Given the description of an element on the screen output the (x, y) to click on. 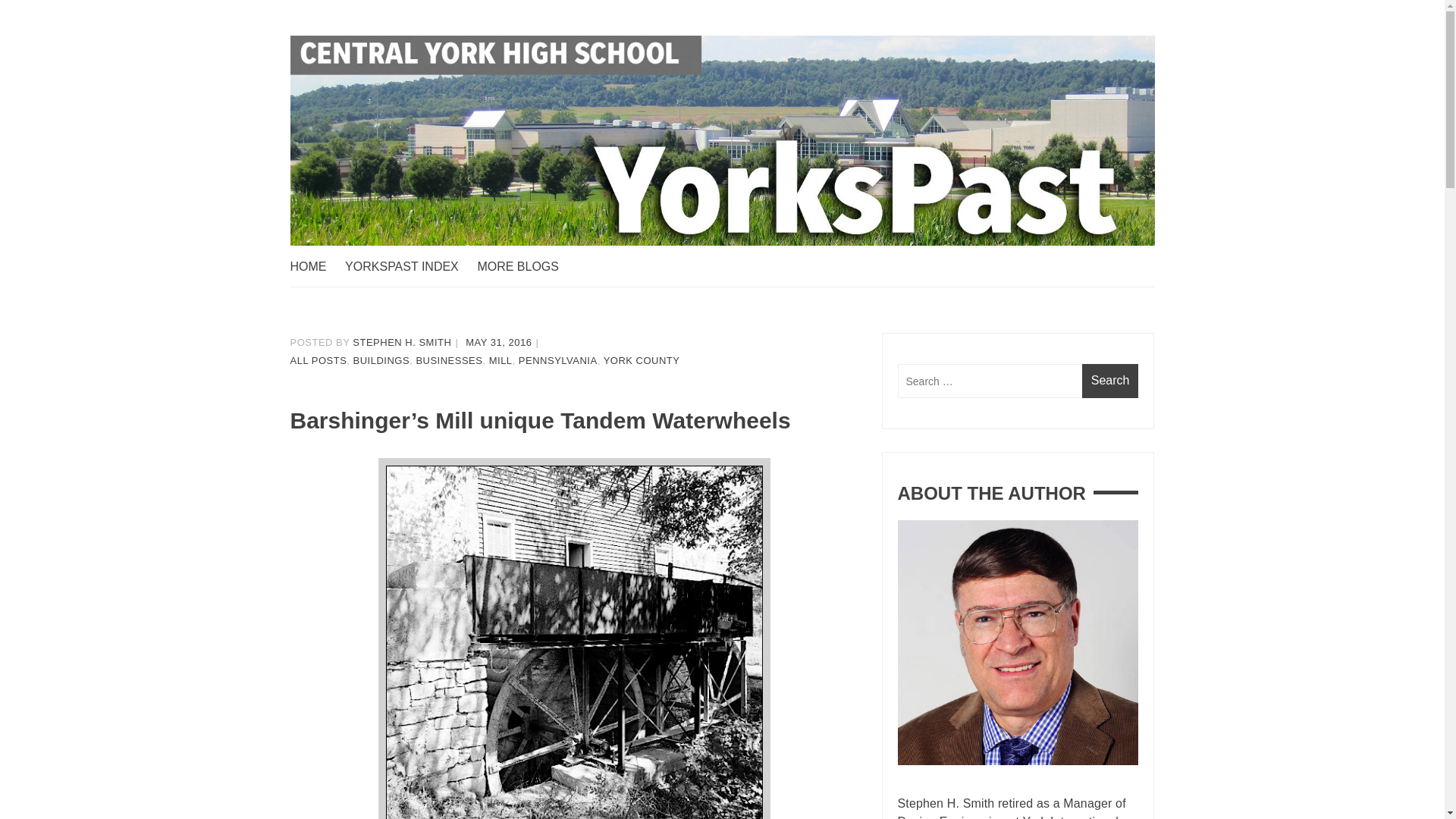
MORE BLOGS (525, 266)
STEPHEN H. SMITH (401, 342)
HOME (314, 266)
Search (1109, 380)
MAY 31, 2016 (498, 342)
BUSINESSES (447, 360)
YORK COUNTY (641, 360)
MILL (500, 360)
Search (1109, 380)
PENNSYLVANIA (557, 360)
ALL POSTS (317, 360)
YORKSPAST INDEX (409, 266)
YorksPast (347, 275)
BUILDINGS (381, 360)
